Given the description of an element on the screen output the (x, y) to click on. 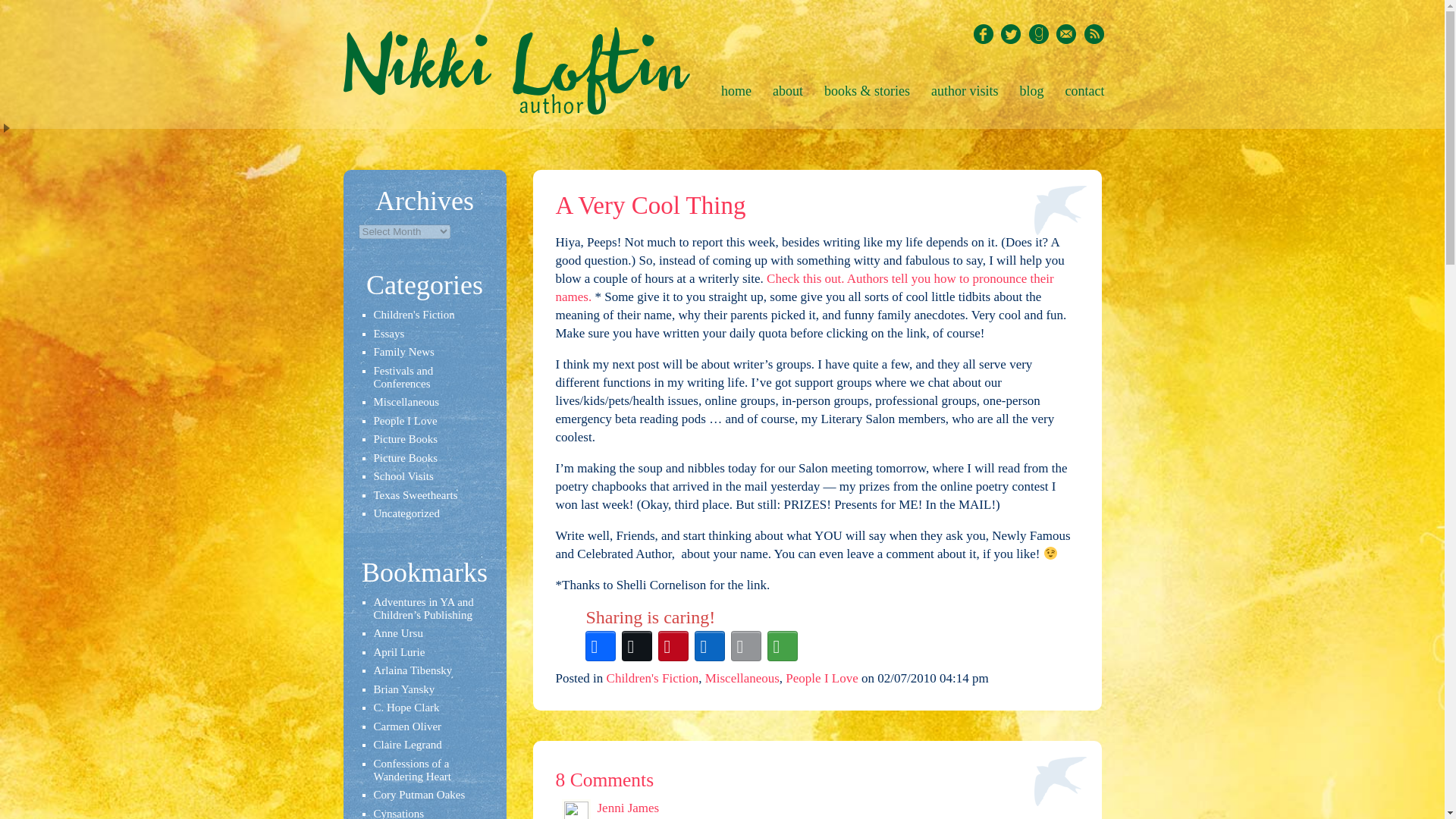
Family News (402, 351)
Anne Ursu (397, 633)
School Visits (402, 476)
Cory Putman Oakes (418, 794)
C. Hope Clark (405, 707)
LinkedIn (709, 646)
Uncategorized (405, 512)
Pinterest (673, 646)
Essays (388, 333)
Confessions of a Wandering Heart (411, 769)
